Given the description of an element on the screen output the (x, y) to click on. 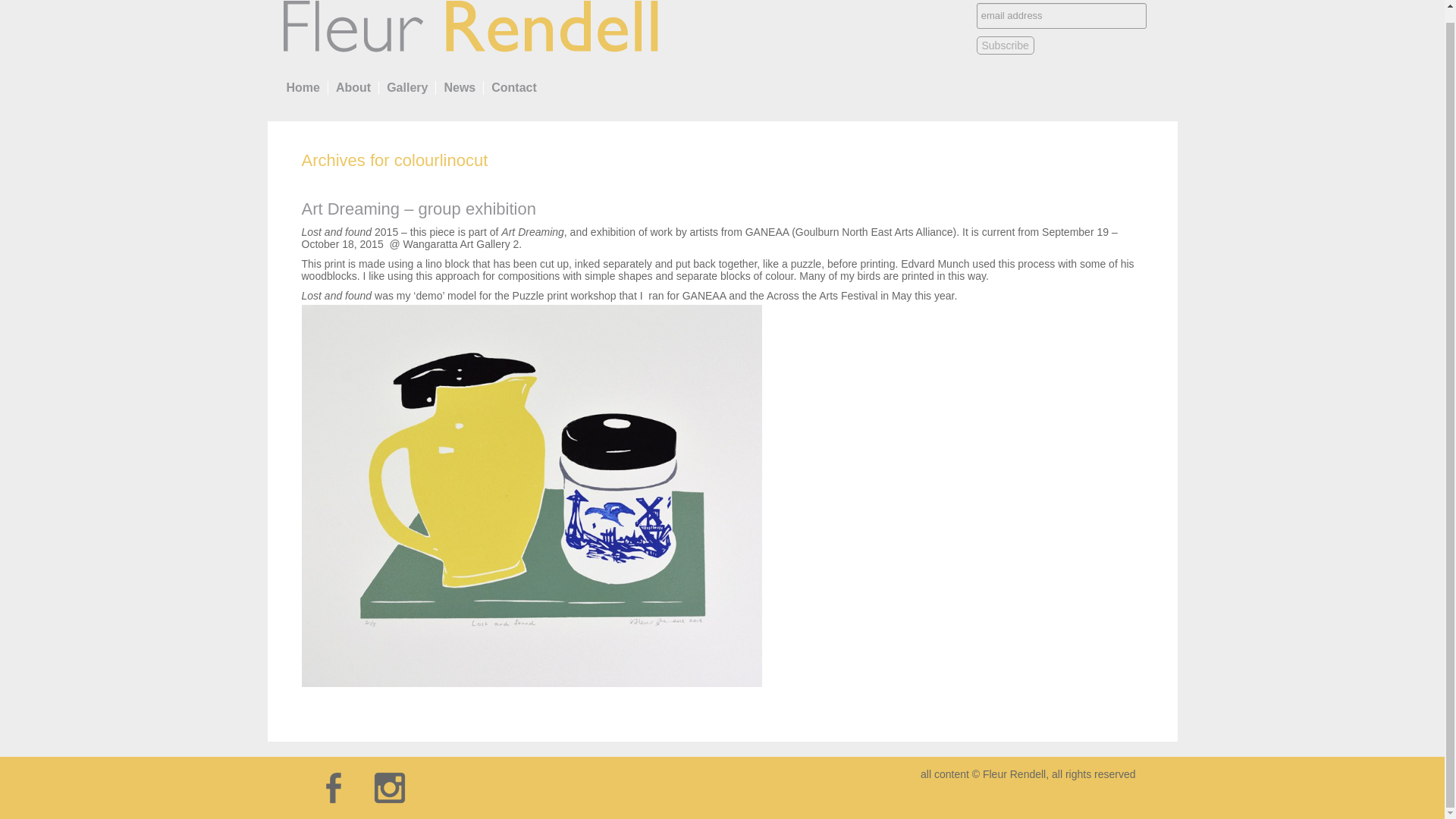
Subscribe (1004, 45)
Gallery (406, 87)
News (459, 87)
Home (302, 87)
Contact (513, 87)
About (352, 87)
Subscribe (1004, 45)
web design by redsally (1077, 793)
